Given the description of an element on the screen output the (x, y) to click on. 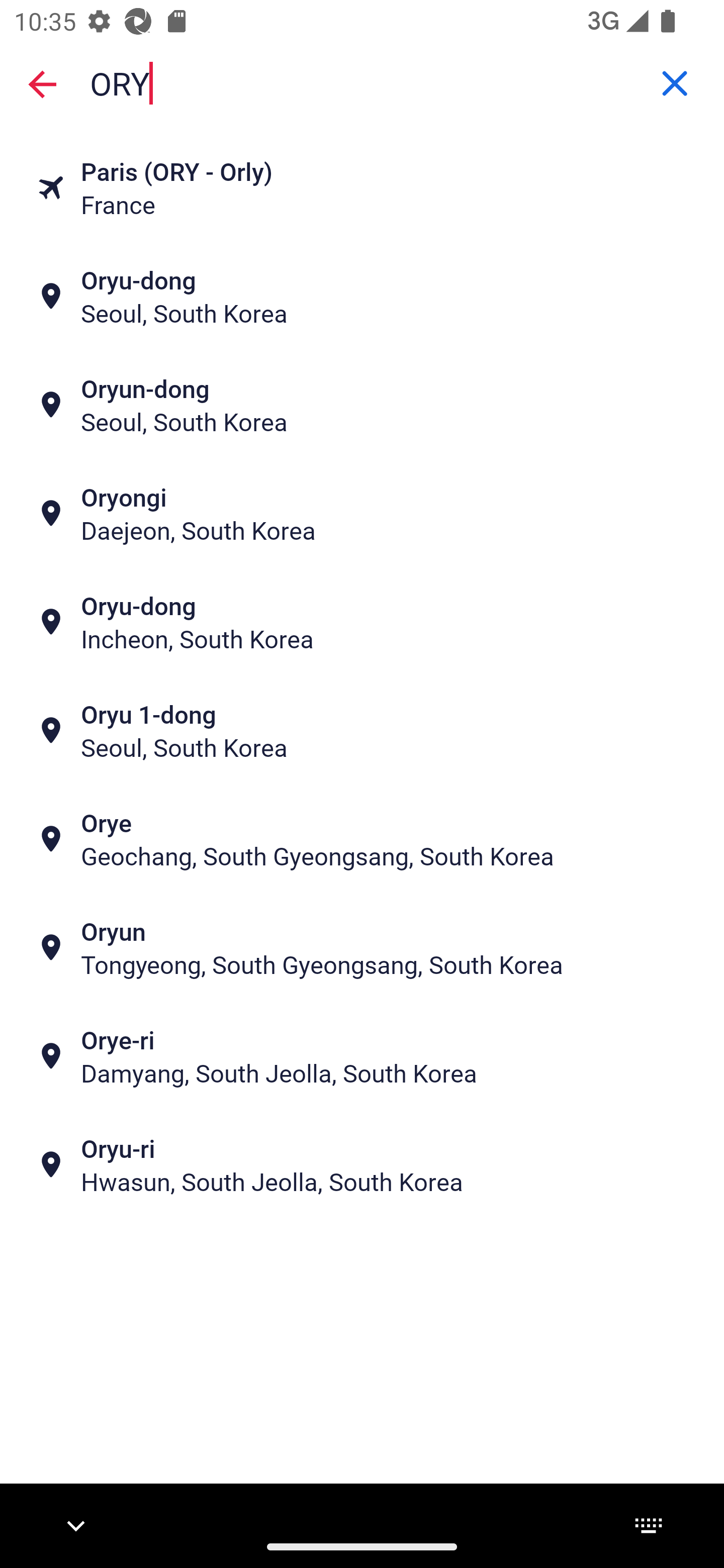
Clear Drop-off (674, 82)
Drop-off, ORY (361, 82)
Close search screen (41, 83)
